Given the description of an element on the screen output the (x, y) to click on. 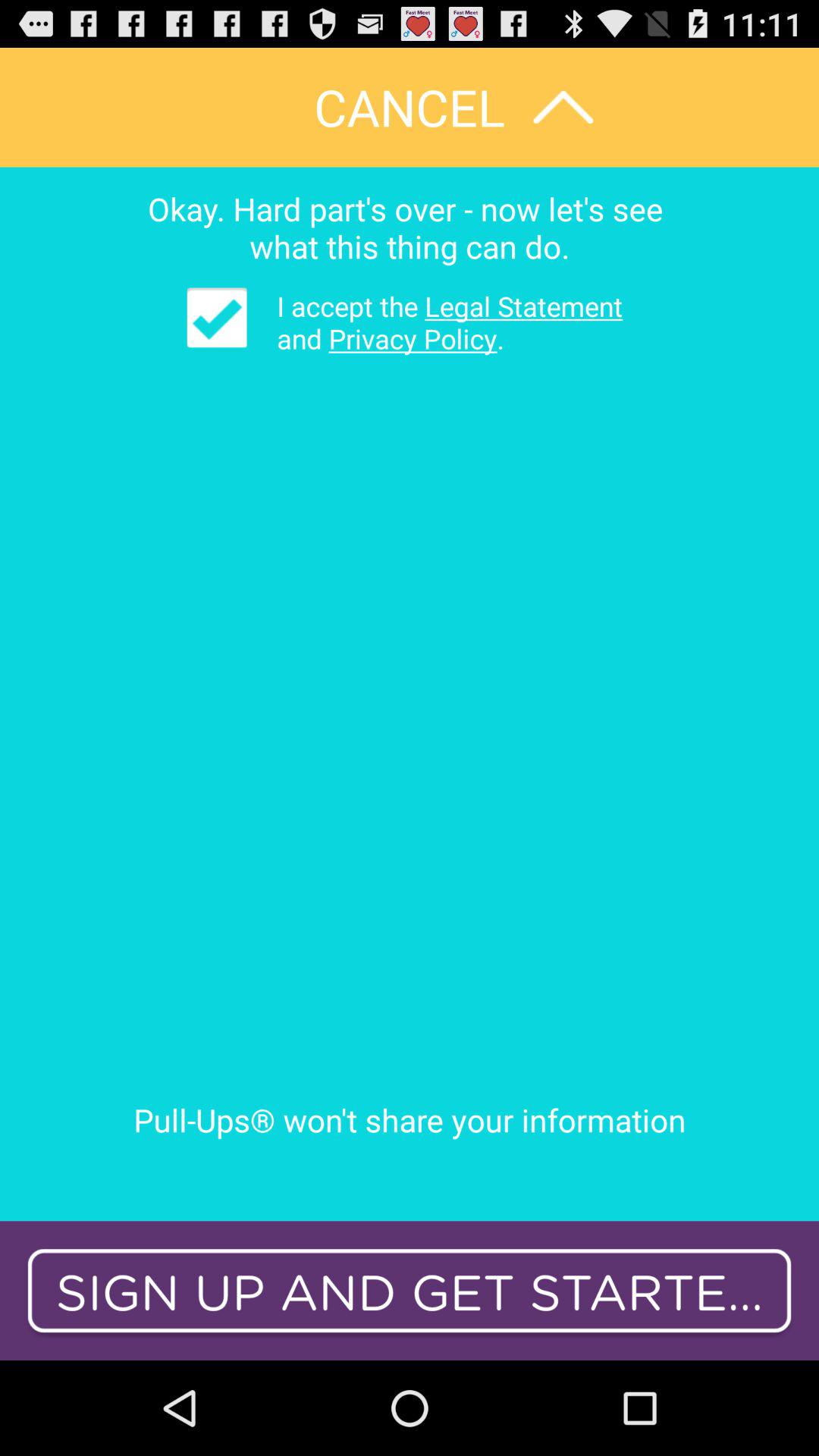
turn off item to the left of the i accept the item (216, 317)
